Given the description of an element on the screen output the (x, y) to click on. 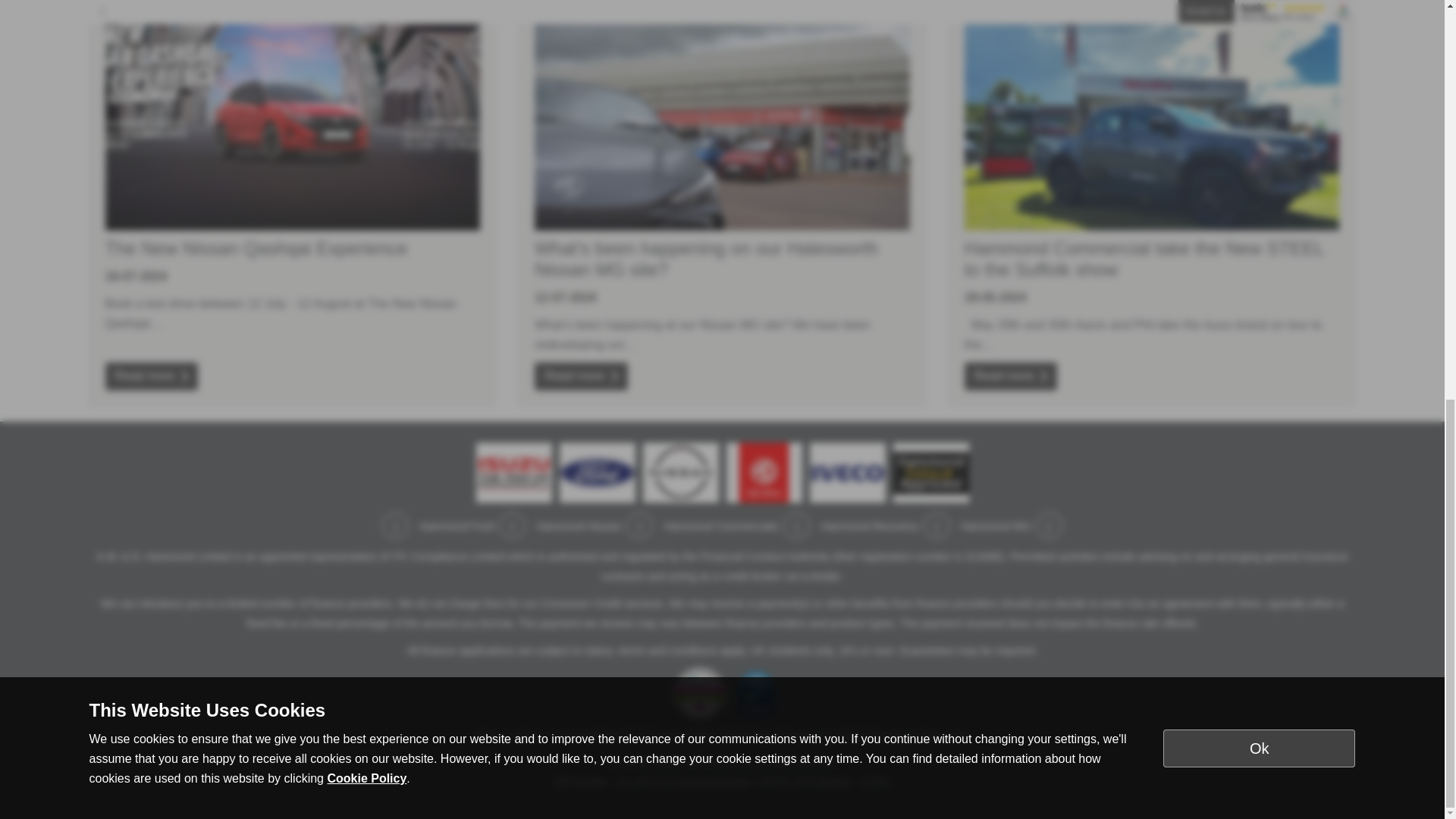
Hammond Commercial take the New STEEL to the Suffolk show (1151, 117)
Hammond Commercial take the New STEEL to the Suffolk show (1010, 376)
The New Nissan Qashqai Experience (255, 248)
The New Nissan Qashqai Experience (150, 376)
The New Nissan Qashqai Experience (292, 117)
What's been happening on our Halesworth Nissan MG site? (580, 376)
Hammond Commercial take the New STEEL to the Suffolk show (1143, 259)
What's been happening on our Halesworth Nissan MG site? (705, 259)
What's been happening on our Halesworth Nissan MG site? (722, 117)
